Given the description of an element on the screen output the (x, y) to click on. 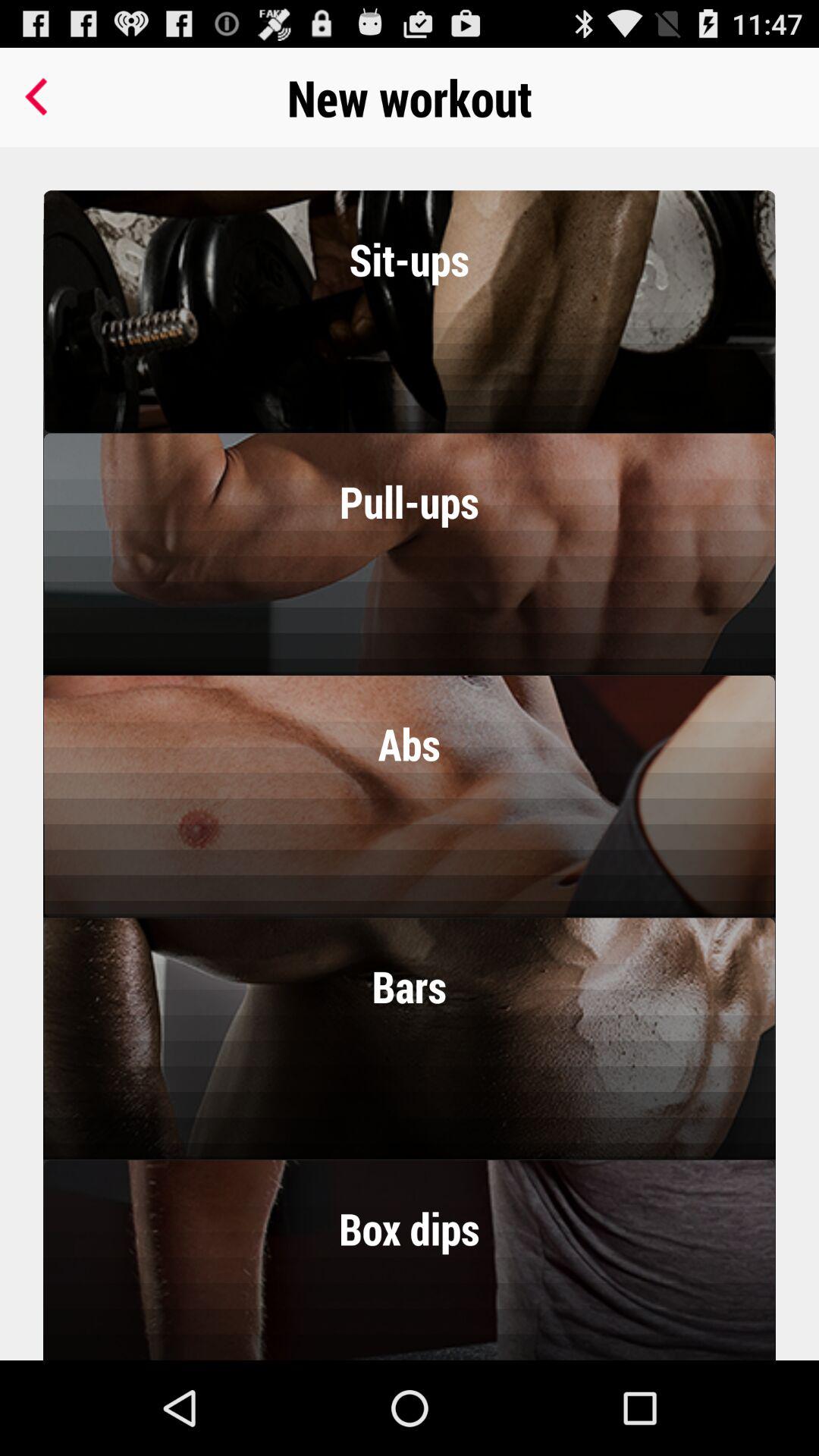
choose item next to the new workout item (39, 97)
